Given the description of an element on the screen output the (x, y) to click on. 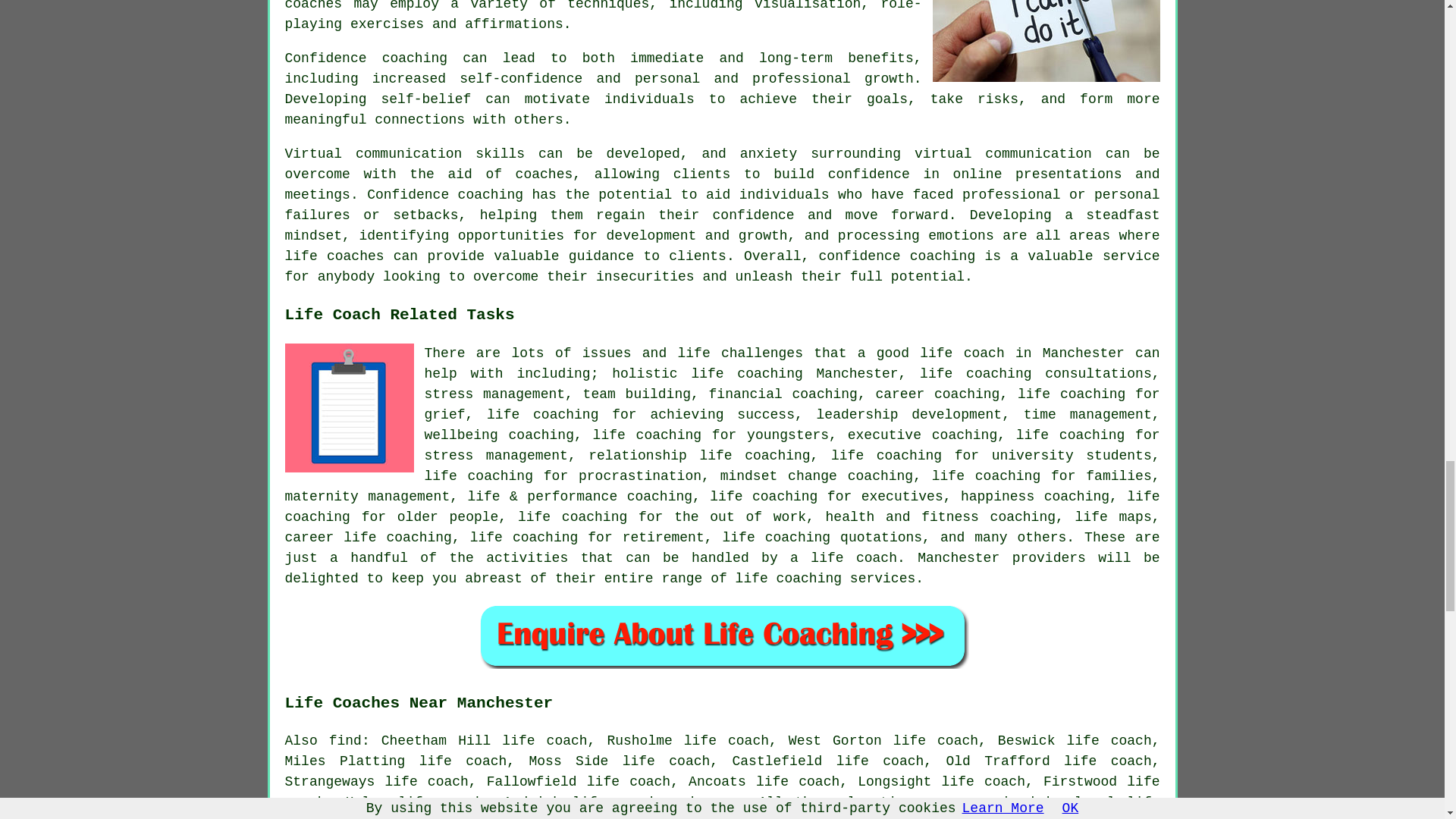
Life Coaching Tasks Manchester (349, 407)
life coaching (646, 435)
Confidence Coaching Manchester (1046, 40)
life coach (962, 353)
stress management (495, 394)
